Given the description of an element on the screen output the (x, y) to click on. 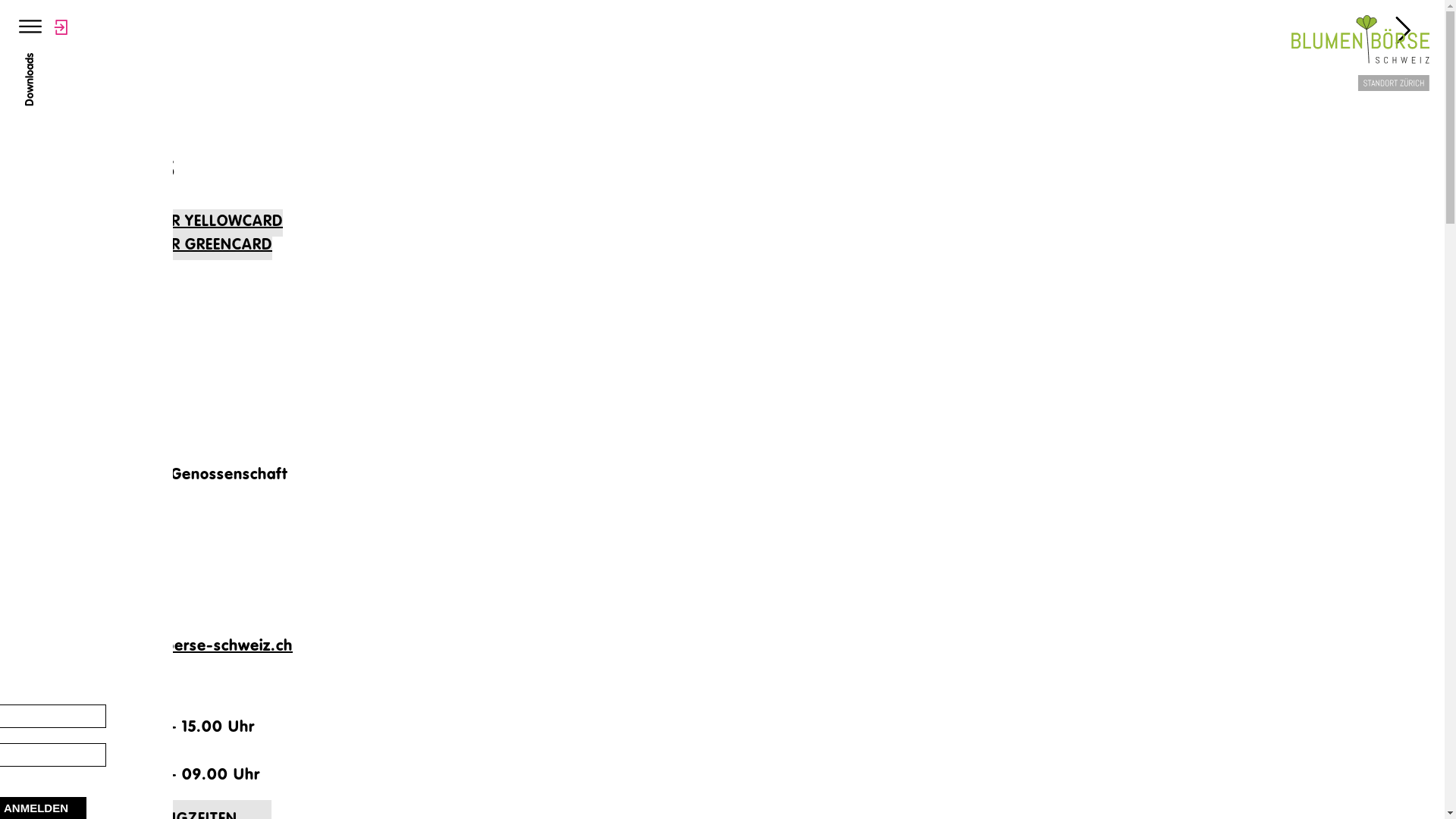
ANTRAGSFORMULAR GREENCARD Element type: text (139, 246)
zuerich@blumenboerse-schweiz.ch Element type: text (164, 647)
ANTRAGSFORMULAR YELLOWCARD Element type: text (144, 222)
044 752 22 22 Element type: text (89, 609)
